Given the description of an element on the screen output the (x, y) to click on. 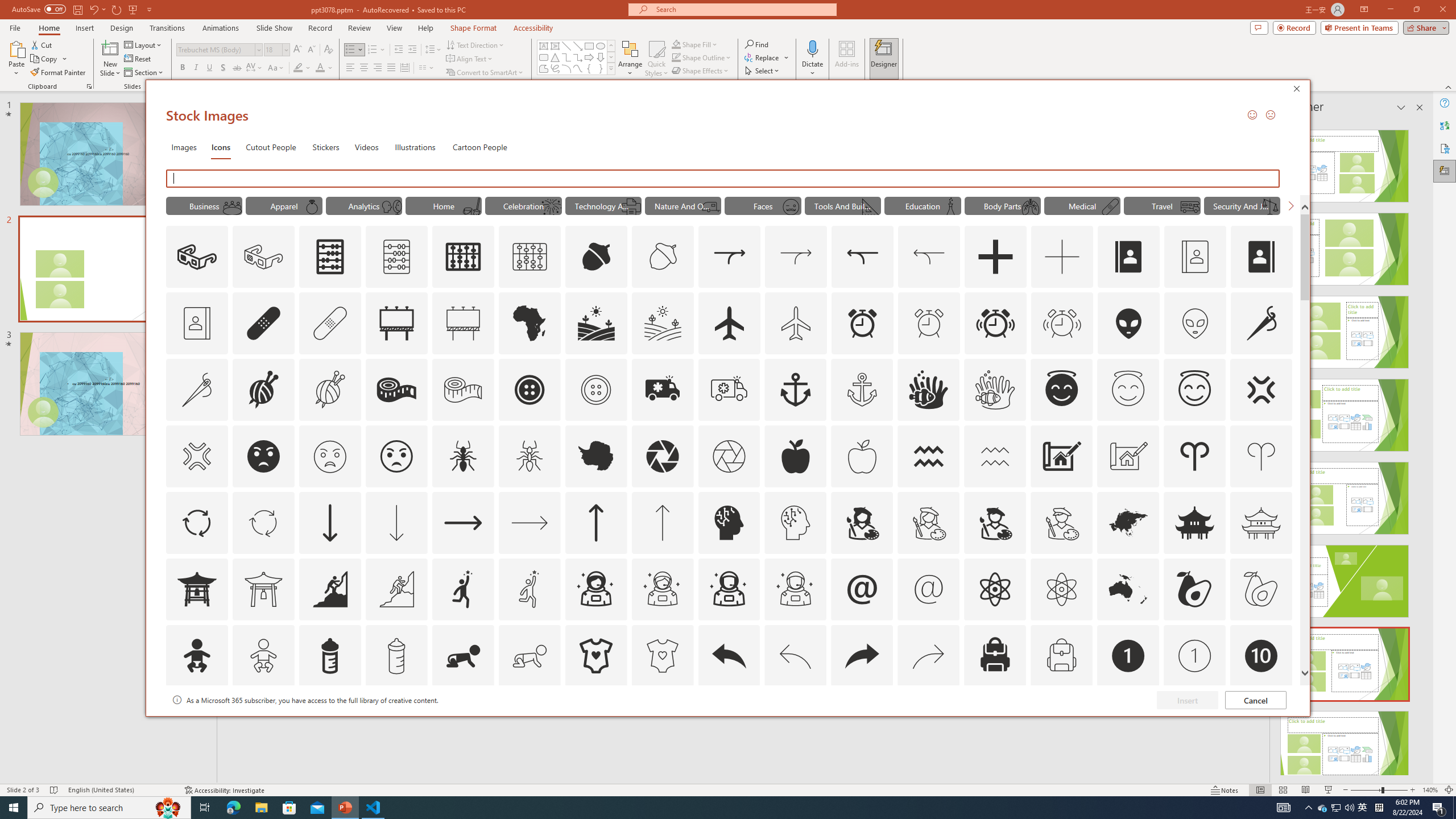
AutomationID: Icons_AsianTemple1_M (263, 588)
AutomationID: Icons_BabyOnesie_M (662, 655)
AutomationID: Icons_Australia (1128, 588)
AutomationID: Icons_AstronautMale_M (795, 588)
AutomationID: Icons_AlterationsTailoring (1261, 323)
AutomationID: Icons_TriangleRuler_M (870, 206)
AutomationID: Icons_AnemoneAndClownfish (1322, 807)
Character Spacing (928, 389)
AutomationID: Icons_AngerSymbol (254, 67)
AutomationID: Icons_ArtistMale (1260, 389)
